Given the description of an element on the screen output the (x, y) to click on. 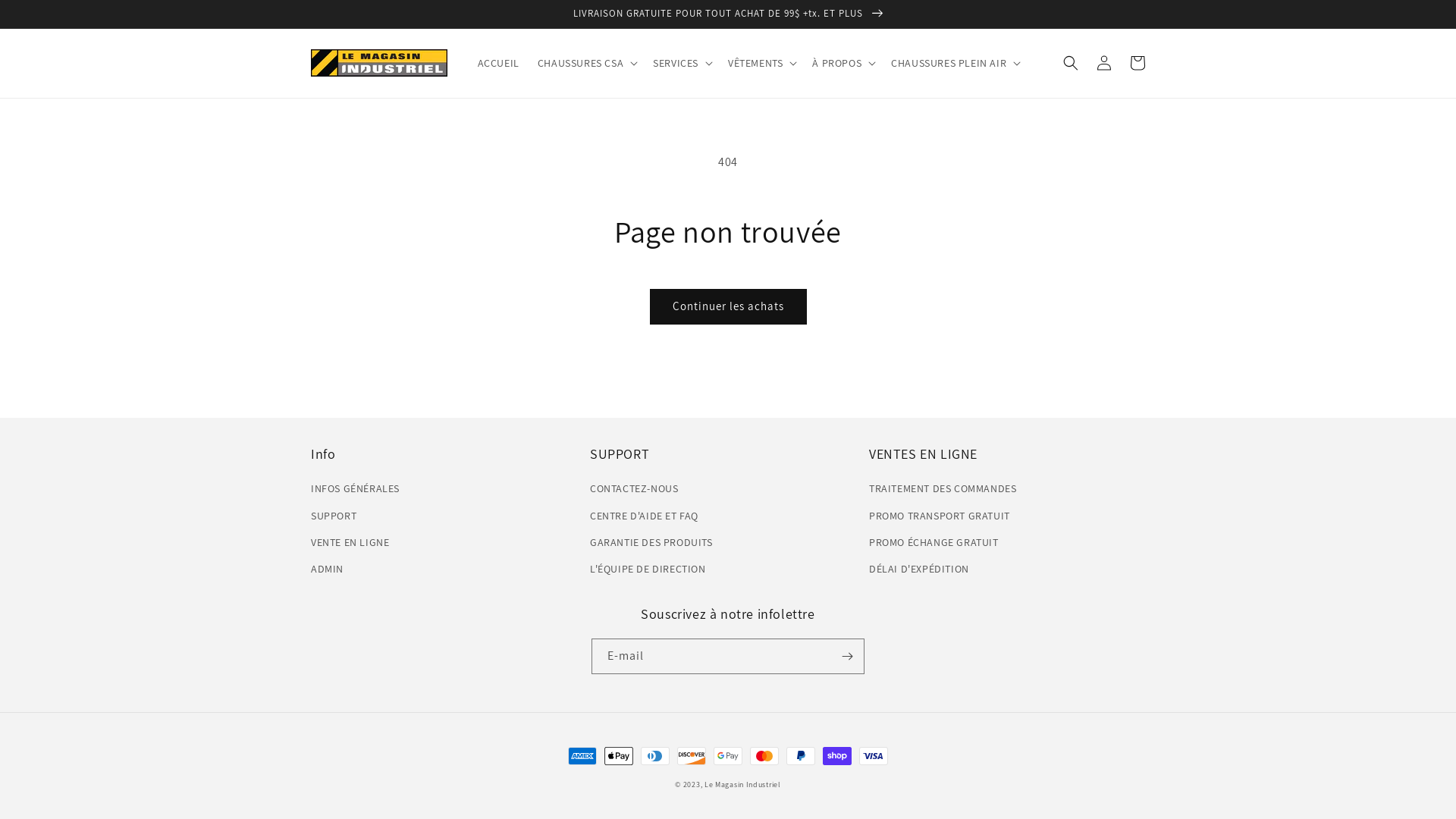
SUPPORT Element type: text (333, 515)
ACCUEIL Element type: text (498, 62)
ADMIN Element type: text (326, 568)
GARANTIE DES PRODUITS Element type: text (650, 542)
PROMO TRANSPORT GRATUIT Element type: text (939, 515)
CENTRE D'AIDE ET FAQ Element type: text (643, 515)
Panier Element type: text (1137, 62)
Connexion Element type: text (1103, 62)
CONTACTEZ-NOUS Element type: text (633, 490)
VENTE EN LIGNE Element type: text (349, 542)
TRAITEMENT DES COMMANDES Element type: text (942, 490)
Le Magasin Industriel Element type: text (742, 784)
Continuer les achats Element type: text (727, 306)
